Given the description of an element on the screen output the (x, y) to click on. 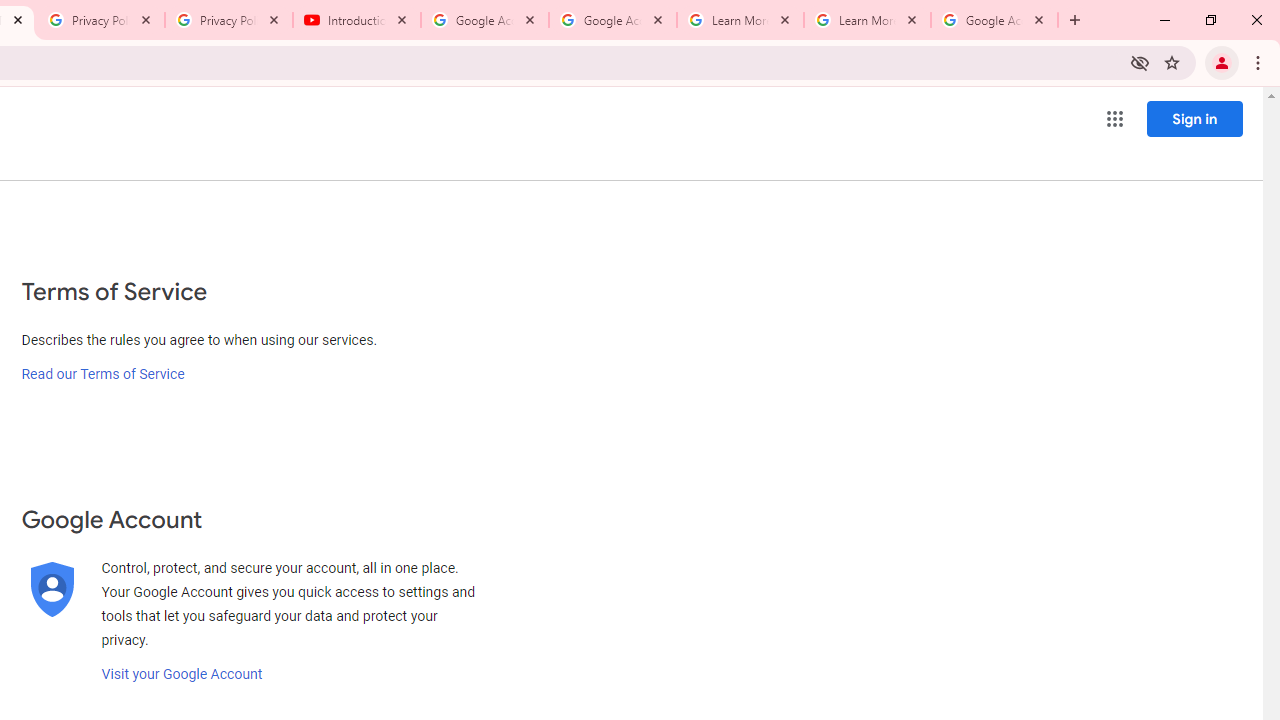
Read our Terms of Service (102, 374)
Google Account (994, 20)
Introduction | Google Privacy Policy - YouTube (357, 20)
